Given the description of an element on the screen output the (x, y) to click on. 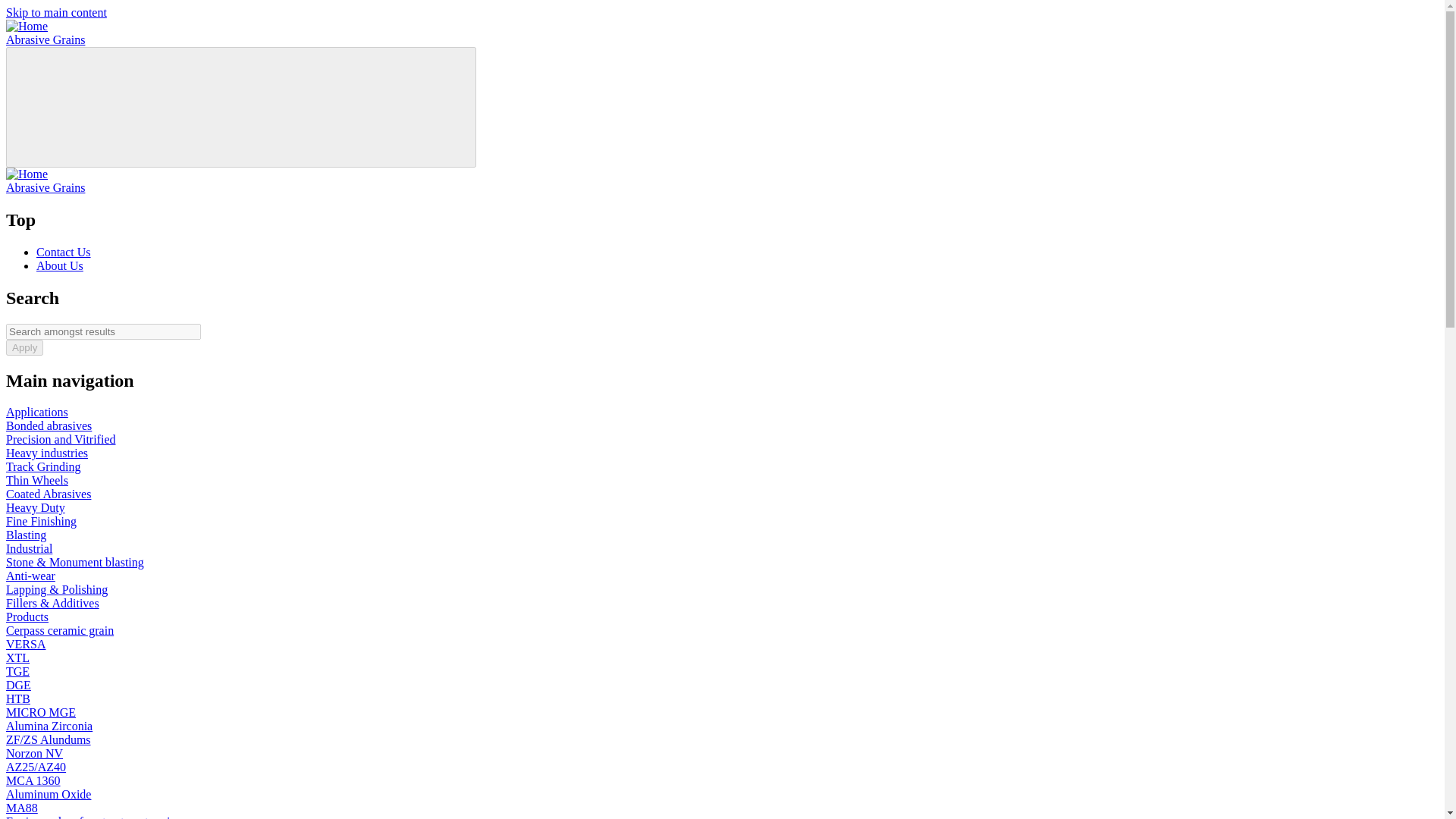
Thin Wheels (36, 480)
Applications (36, 411)
Heavy Duty (35, 507)
Cerpass ceramic grain (59, 630)
Bonded abrasives (48, 425)
Precision and Vitrified (60, 439)
Industrial (28, 548)
Fine Finishing (41, 521)
MICRO MGE (40, 712)
Apply (24, 347)
